Given the description of an element on the screen output the (x, y) to click on. 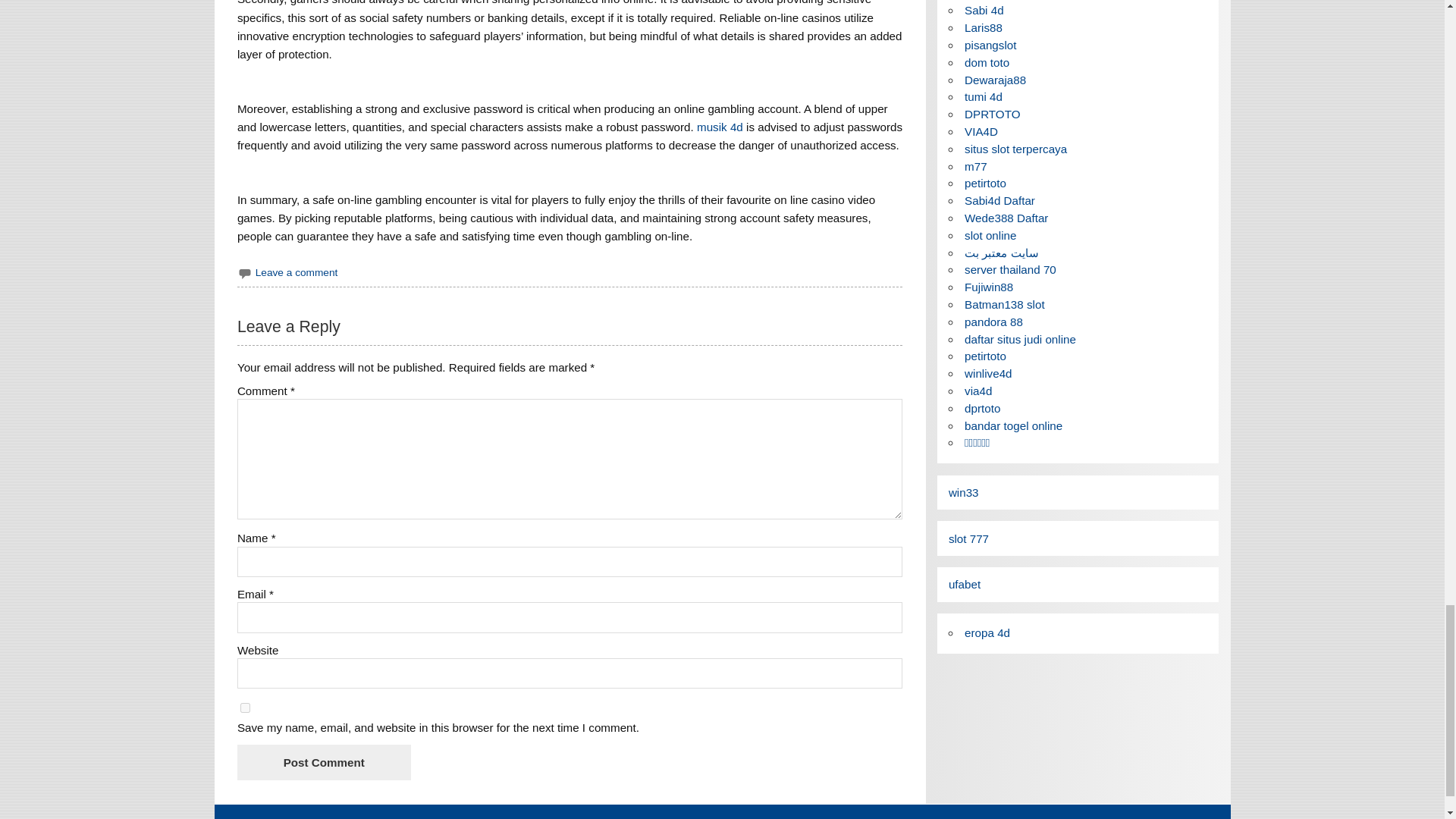
Post Comment (323, 762)
Leave a comment (296, 272)
Post Comment (323, 762)
yes (245, 707)
musik 4d (719, 126)
